Given the description of an element on the screen output the (x, y) to click on. 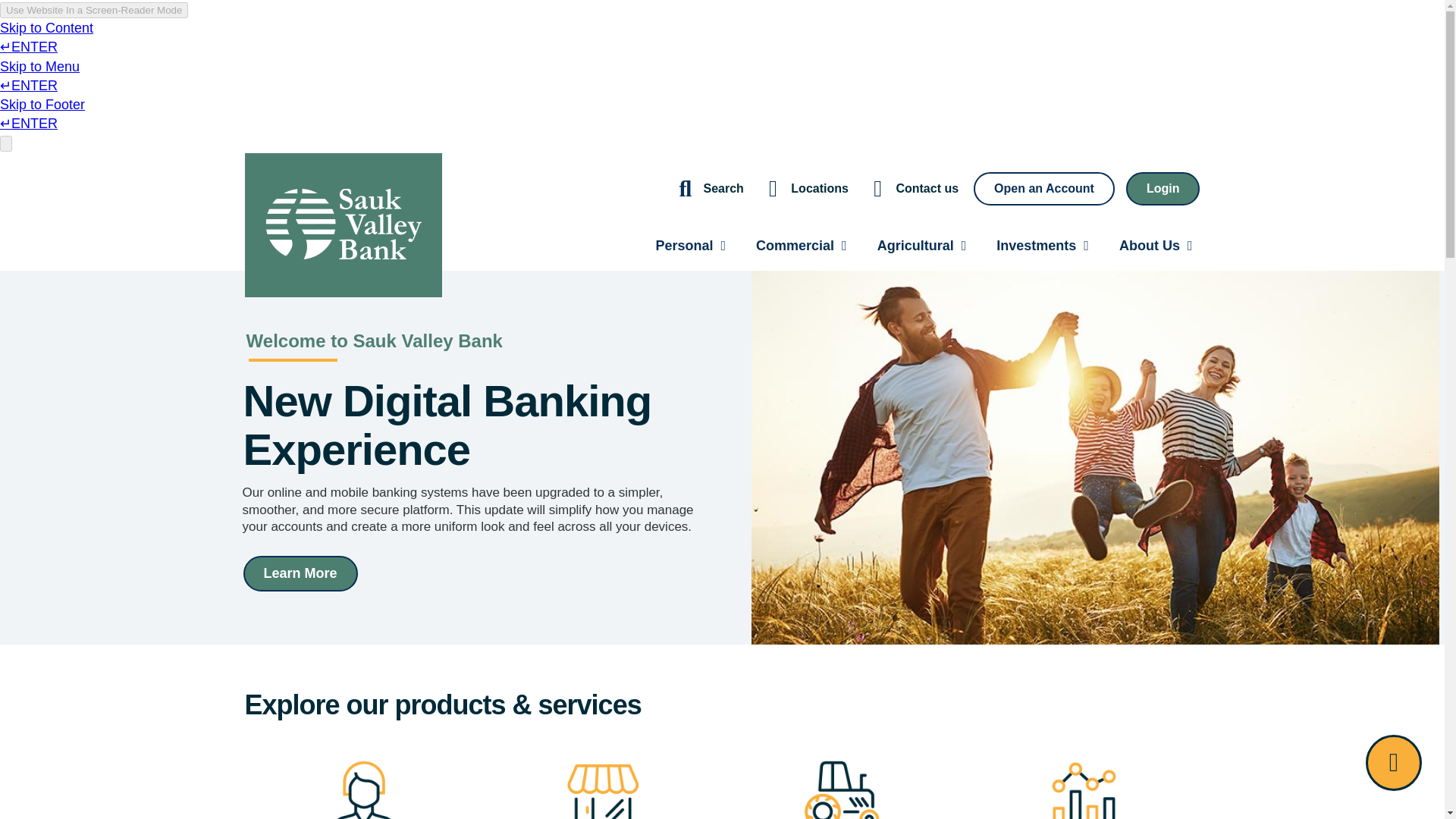
Locations (803, 188)
Search (707, 188)
Contact us (910, 188)
Open an Account (1044, 187)
Personal (690, 246)
Login (1162, 187)
Commercial (801, 246)
